Given the description of an element on the screen output the (x, y) to click on. 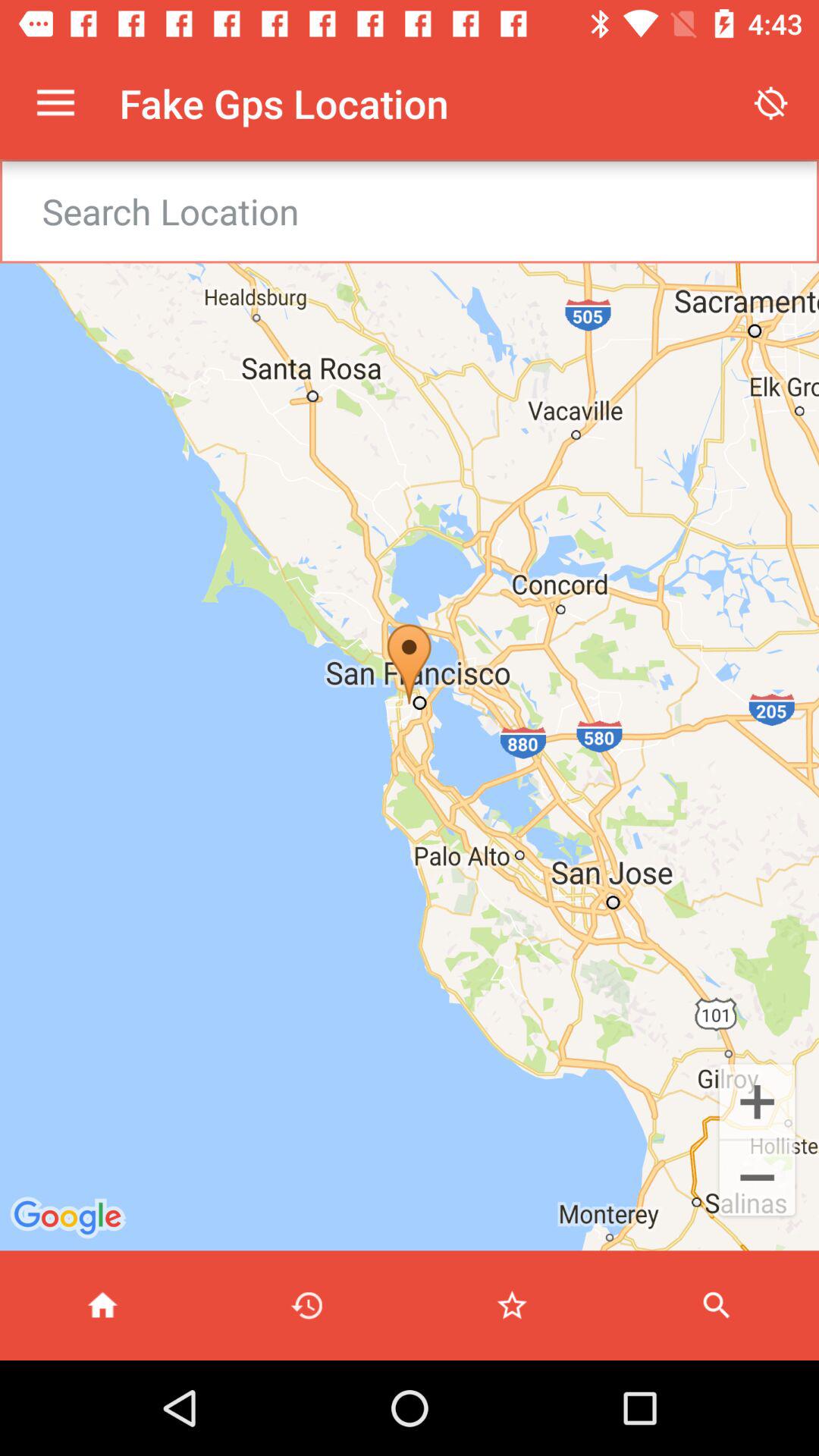
turn off item at the top right corner (771, 103)
